Given the description of an element on the screen output the (x, y) to click on. 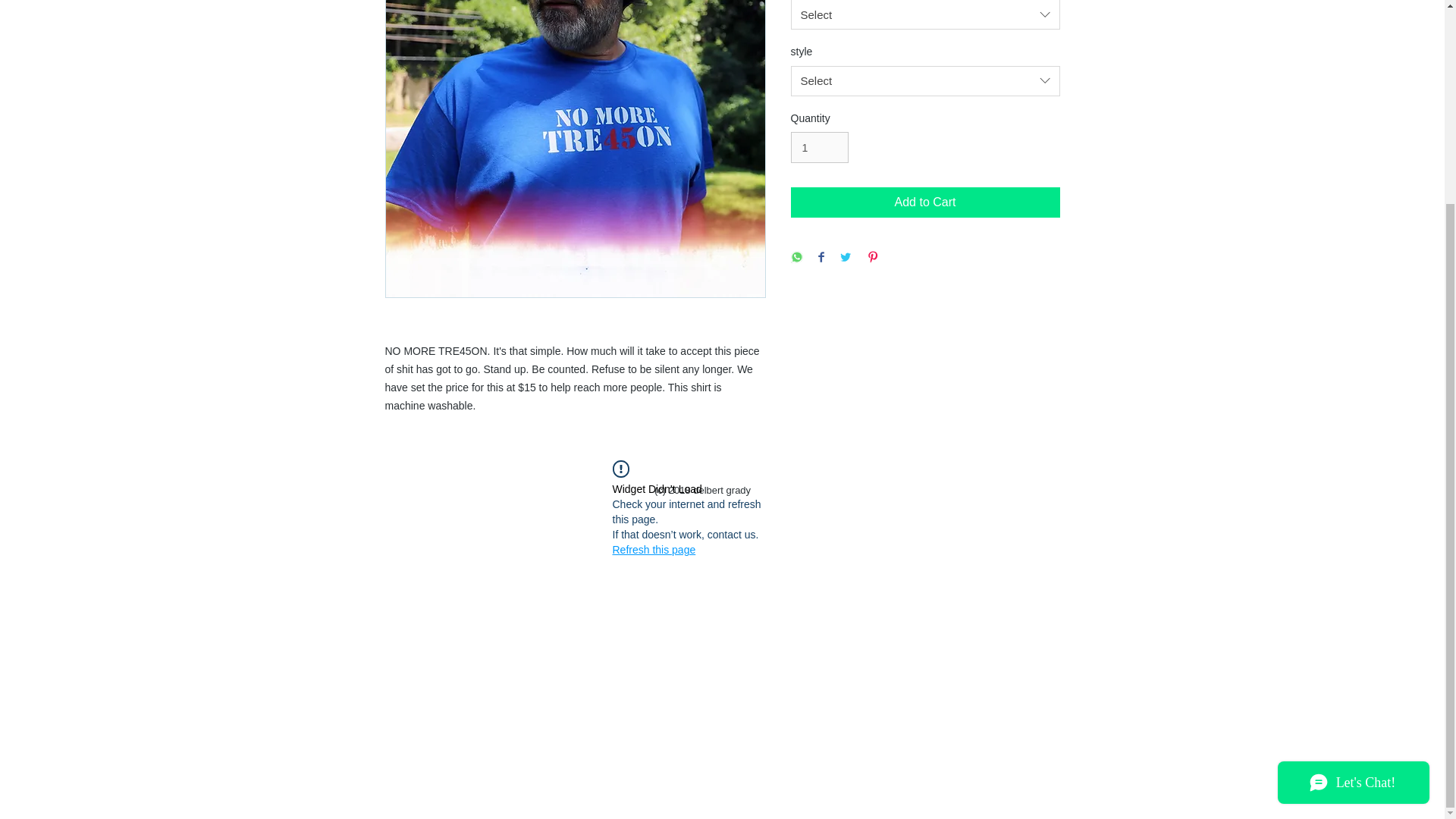
Add to Cart (924, 202)
Select (924, 14)
1 (818, 146)
Select (924, 81)
Refresh this page (653, 549)
